Given the description of an element on the screen output the (x, y) to click on. 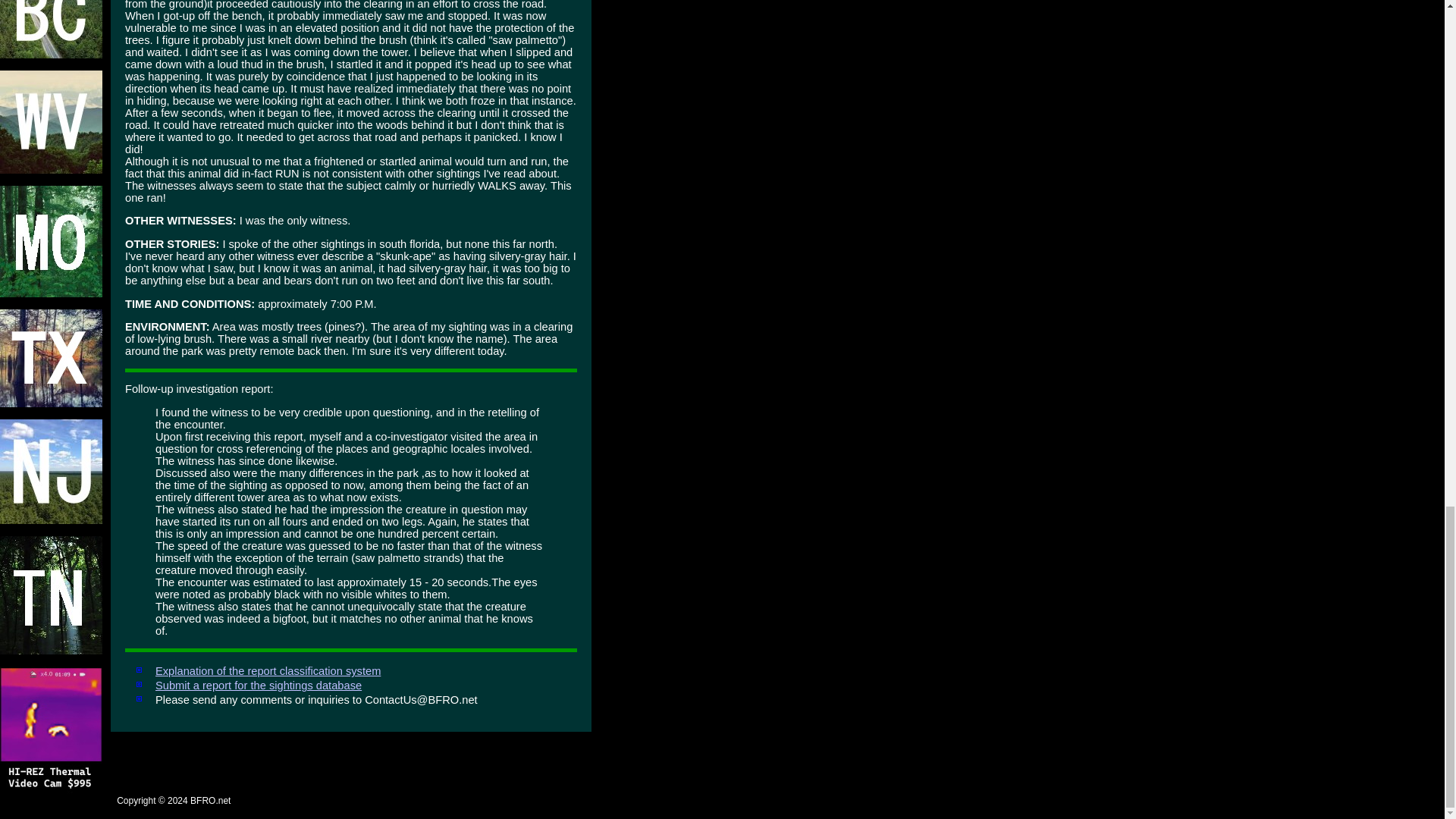
Submit a report for the sightings database (258, 685)
Explanation of the report classification system (267, 671)
